Given the description of an element on the screen output the (x, y) to click on. 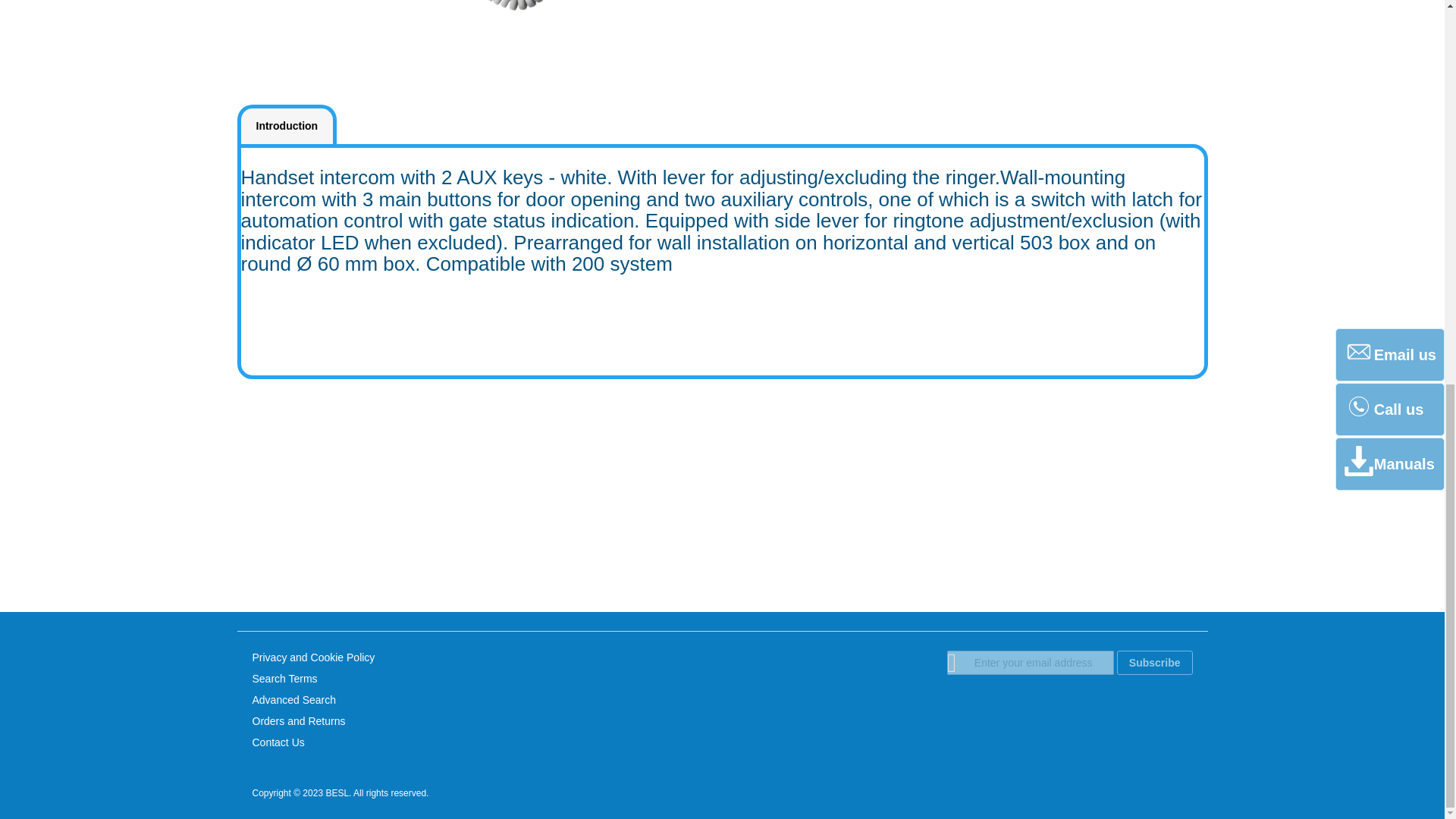
Subscribe (1154, 662)
